Given the description of an element on the screen output the (x, y) to click on. 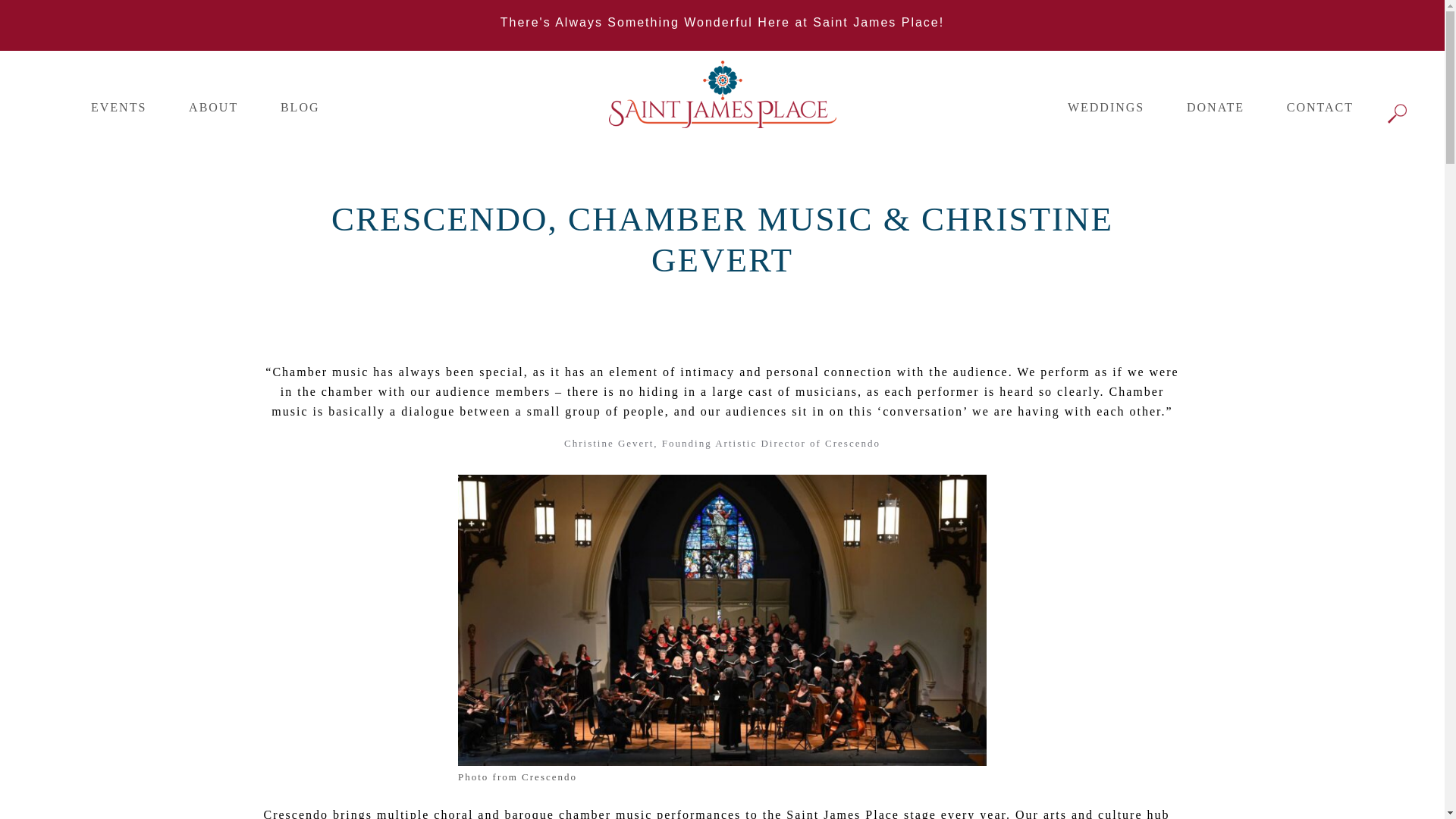
Search (113, 18)
ABOUT (213, 106)
WEDDINGS (1105, 106)
EVENTS (118, 106)
DONATE (1215, 106)
CONTACT (1320, 106)
BLOG (300, 106)
